Given the description of an element on the screen output the (x, y) to click on. 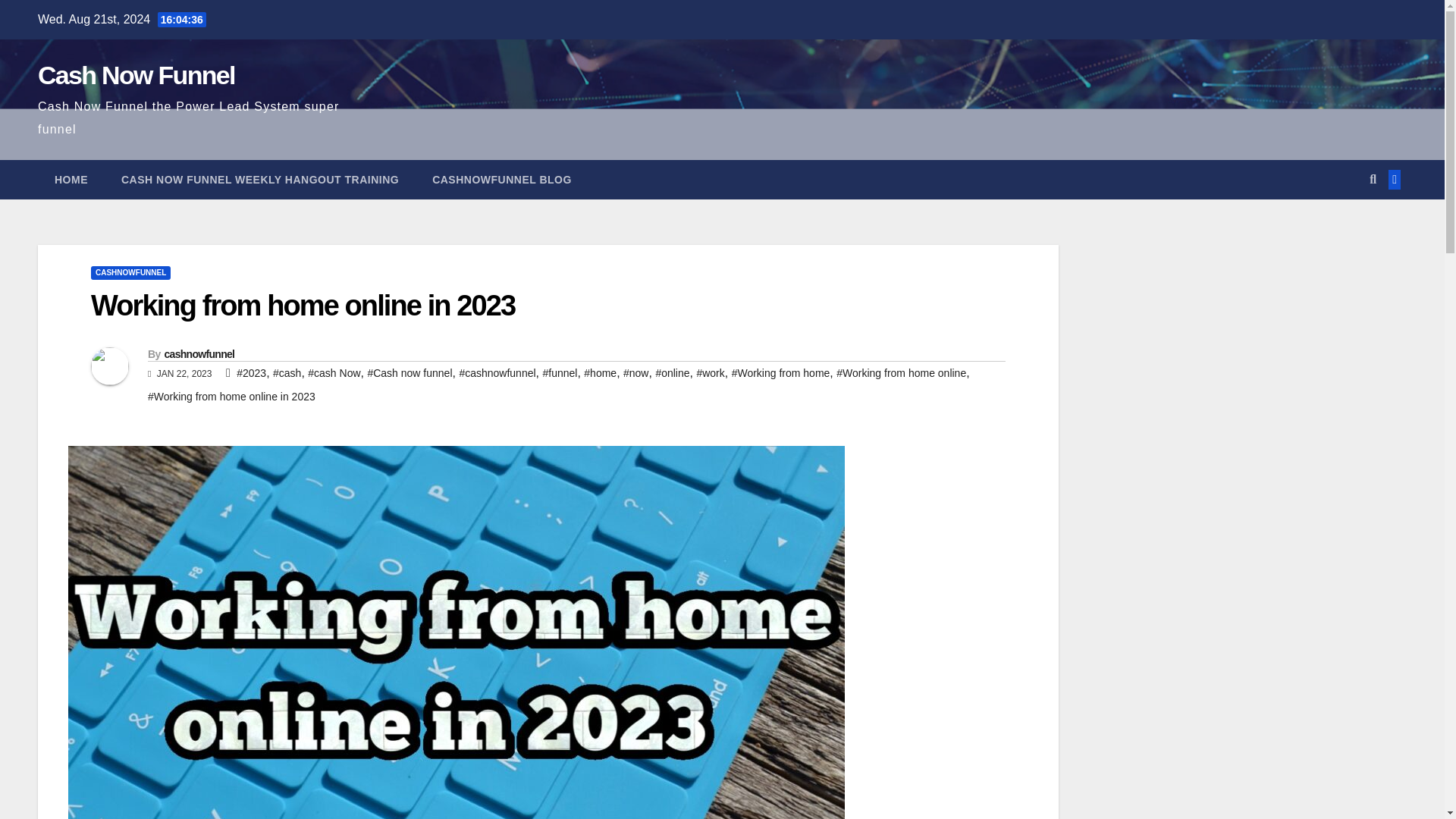
Permalink to: Working from home online in 2023 (302, 305)
Cash Now Funnel (135, 74)
cashnowfunnel (198, 354)
HOME (70, 179)
CASHNOWFUNNEL BLOG (501, 179)
Home (70, 179)
Working from home online in 2023 (302, 305)
CASHNOWFUNNEL (130, 273)
CASH NOW FUNNEL WEEKLY HANGOUT TRAINING (259, 179)
